Given the description of an element on the screen output the (x, y) to click on. 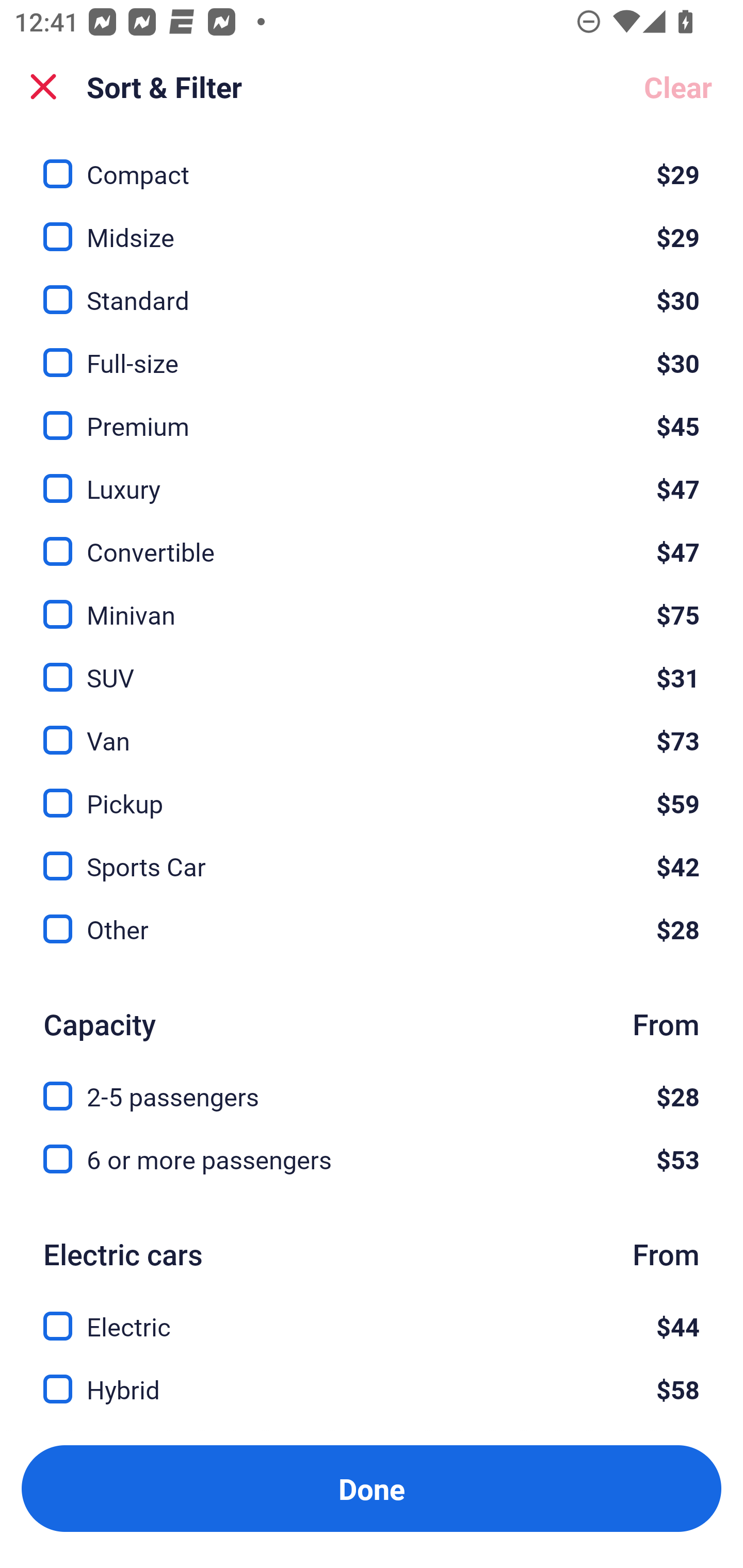
Close Sort and Filter (43, 86)
Clear (677, 86)
Compact, $29 Compact $29 (371, 162)
Midsize, $29 Midsize $29 (371, 225)
Standard, $30 Standard $30 (371, 288)
Full-size, $30 Full-size $30 (371, 350)
Premium, $45 Premium $45 (371, 413)
Luxury, $47 Luxury $47 (371, 476)
Convertible, $47 Convertible $47 (371, 539)
Minivan, $75 Minivan $75 (371, 602)
SUV, $31 SUV $31 (371, 666)
Van, $73 Van $73 (371, 728)
Pickup, $59 Pickup $59 (371, 791)
Sports Car, $42 Sports Car $42 (371, 854)
Other, $28 Other $28 (371, 928)
2-5 passengers, $28 2-5 passengers $28 (371, 1084)
6 or more passengers, $53 6 or more passengers $53 (371, 1159)
Electric, $44 Electric $44 (371, 1314)
Hybrid, $58 Hybrid $58 (371, 1389)
Apply and close Sort and Filter Done (371, 1488)
